Given the description of an element on the screen output the (x, y) to click on. 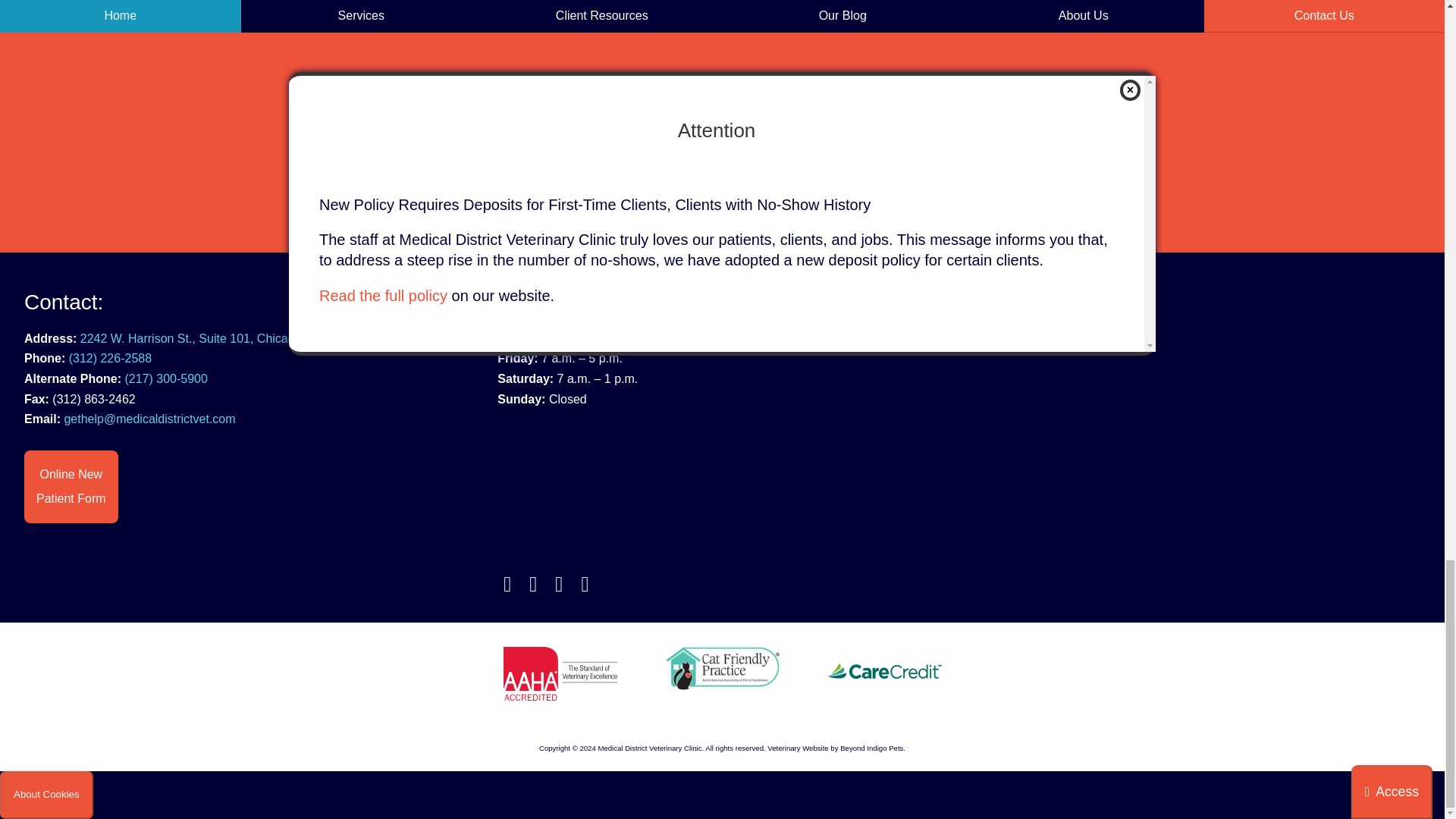
Cat Friendly Practice Logo (721, 668)
Beyond Indigo Pets (797, 747)
AAHA Logo (560, 674)
Care Credit Logo (885, 670)
Illinois Veterinary Google Map (1196, 463)
